Given the description of an element on the screen output the (x, y) to click on. 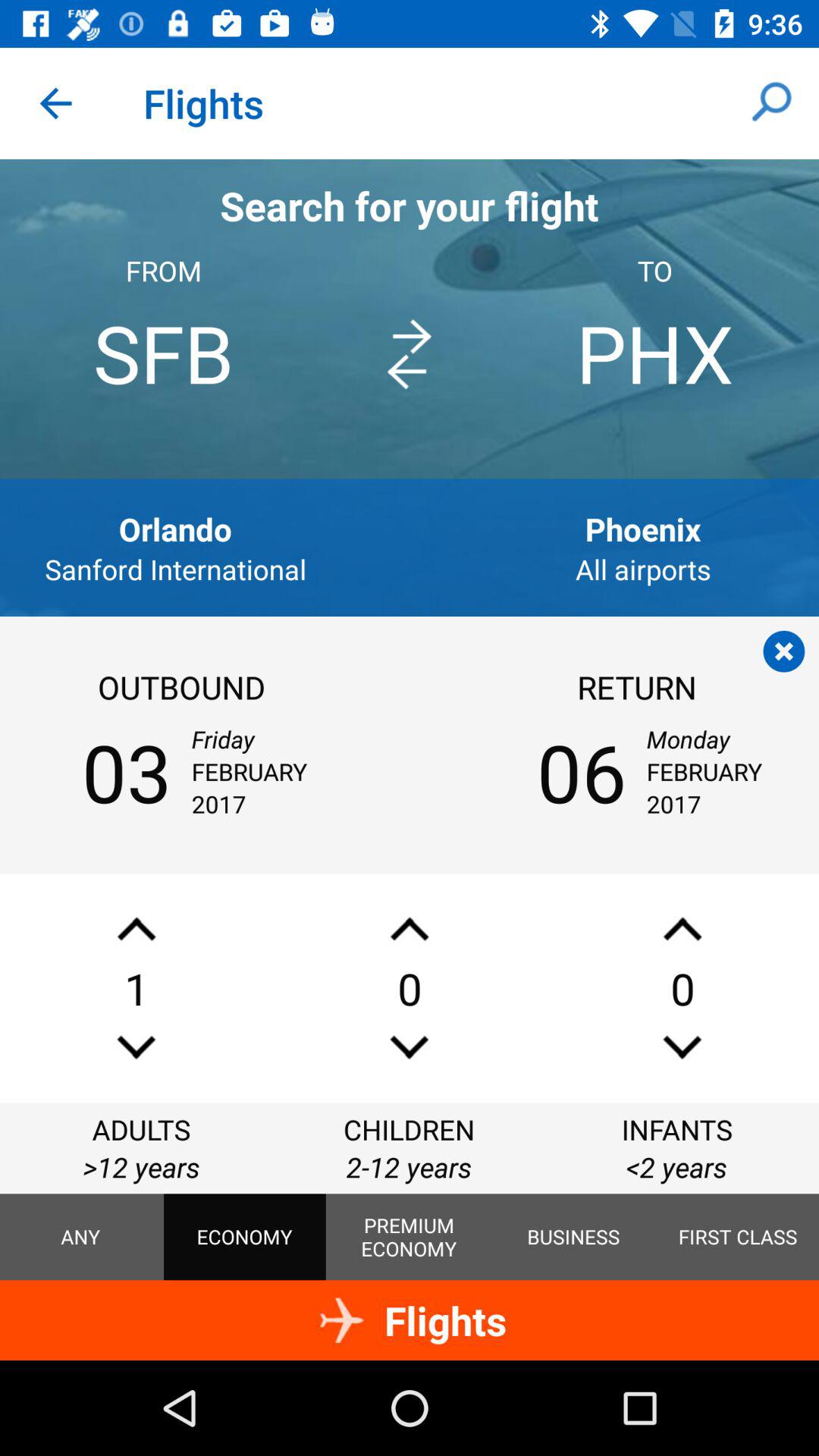
choose icon next to sfb icon (408, 354)
